Given the description of an element on the screen output the (x, y) to click on. 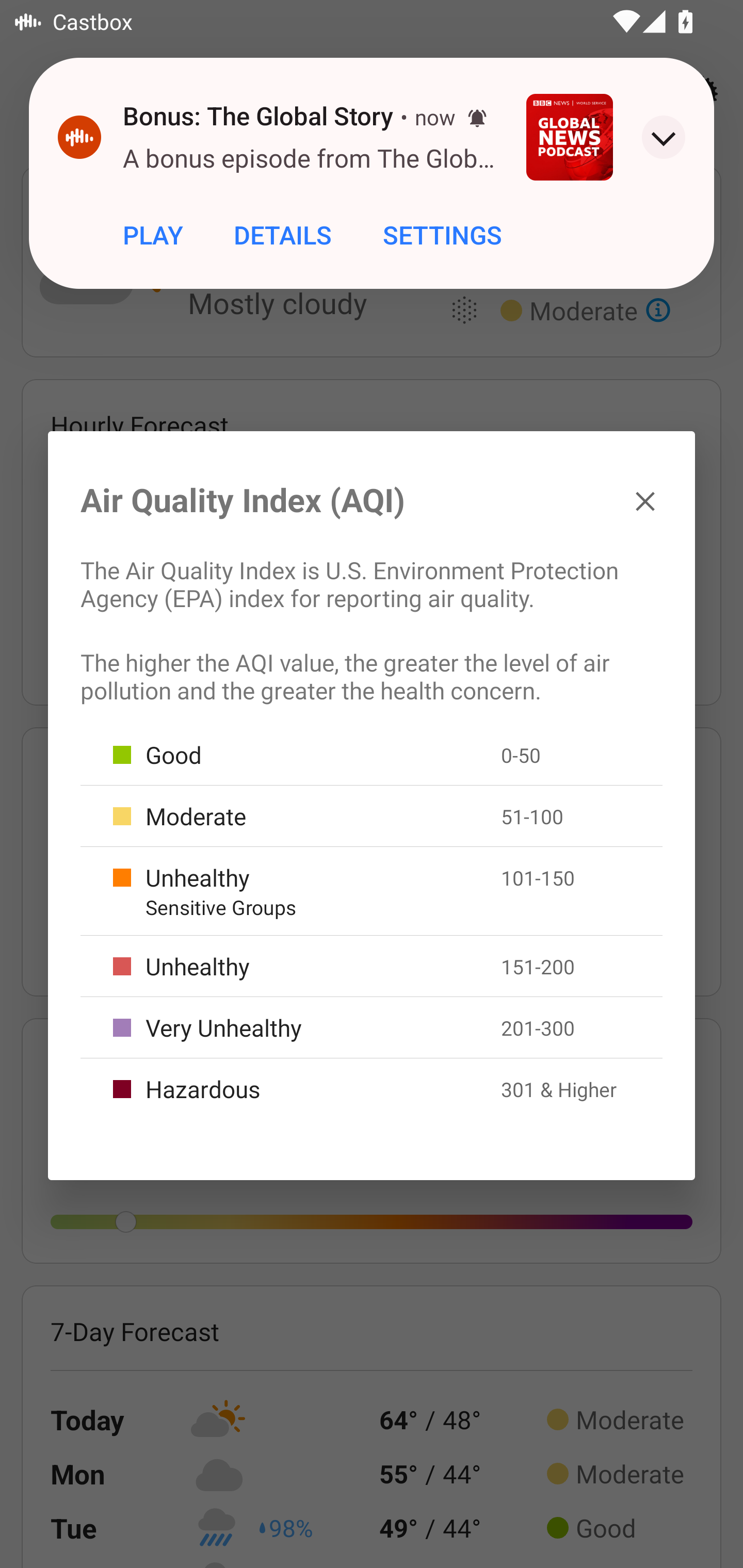
✕ (644, 499)
